Given the description of an element on the screen output the (x, y) to click on. 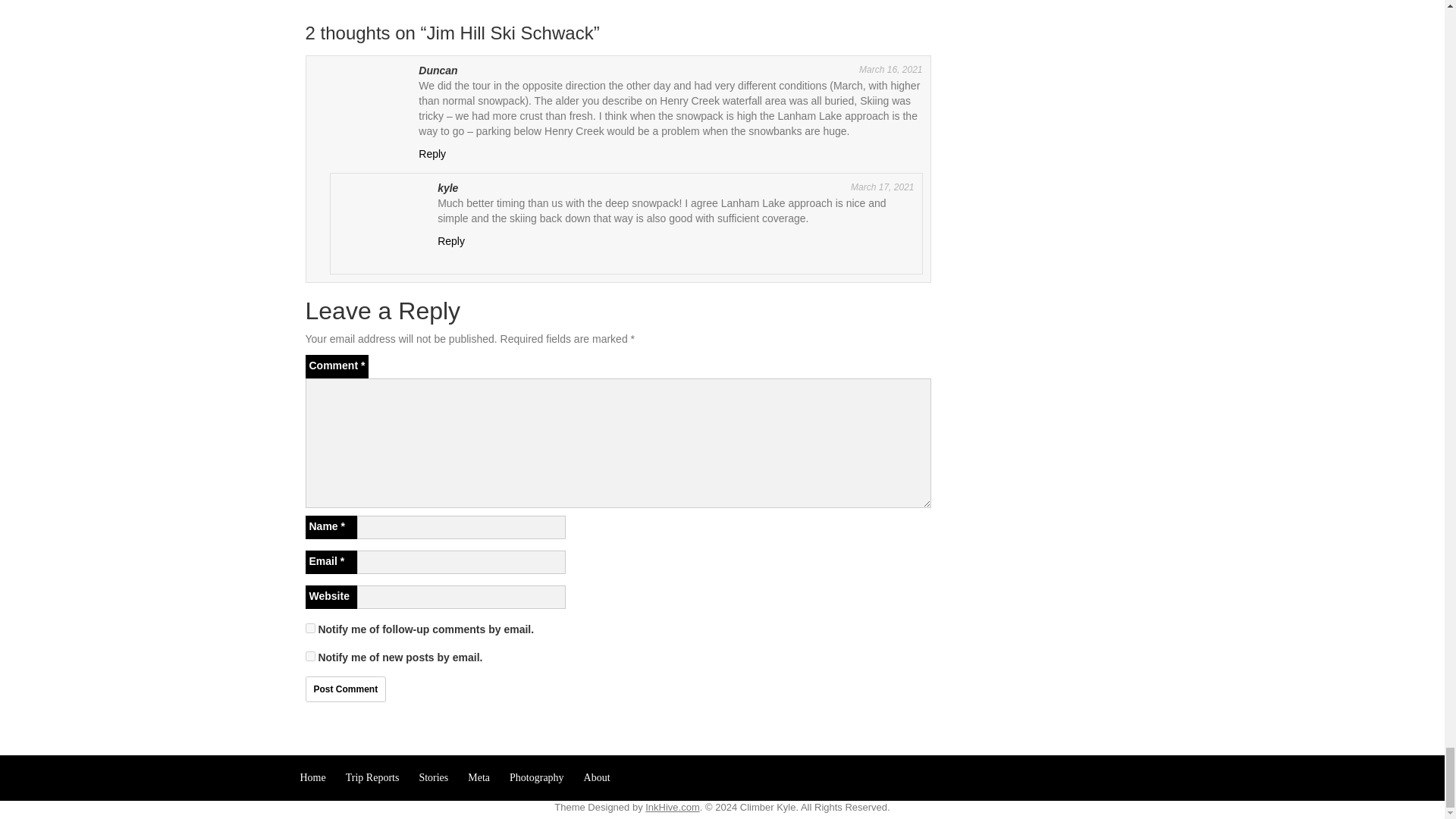
Post Comment (344, 688)
Reply (451, 241)
Post Comment (344, 688)
Reply (432, 152)
subscribe (309, 628)
subscribe (309, 655)
